Given the description of an element on the screen output the (x, y) to click on. 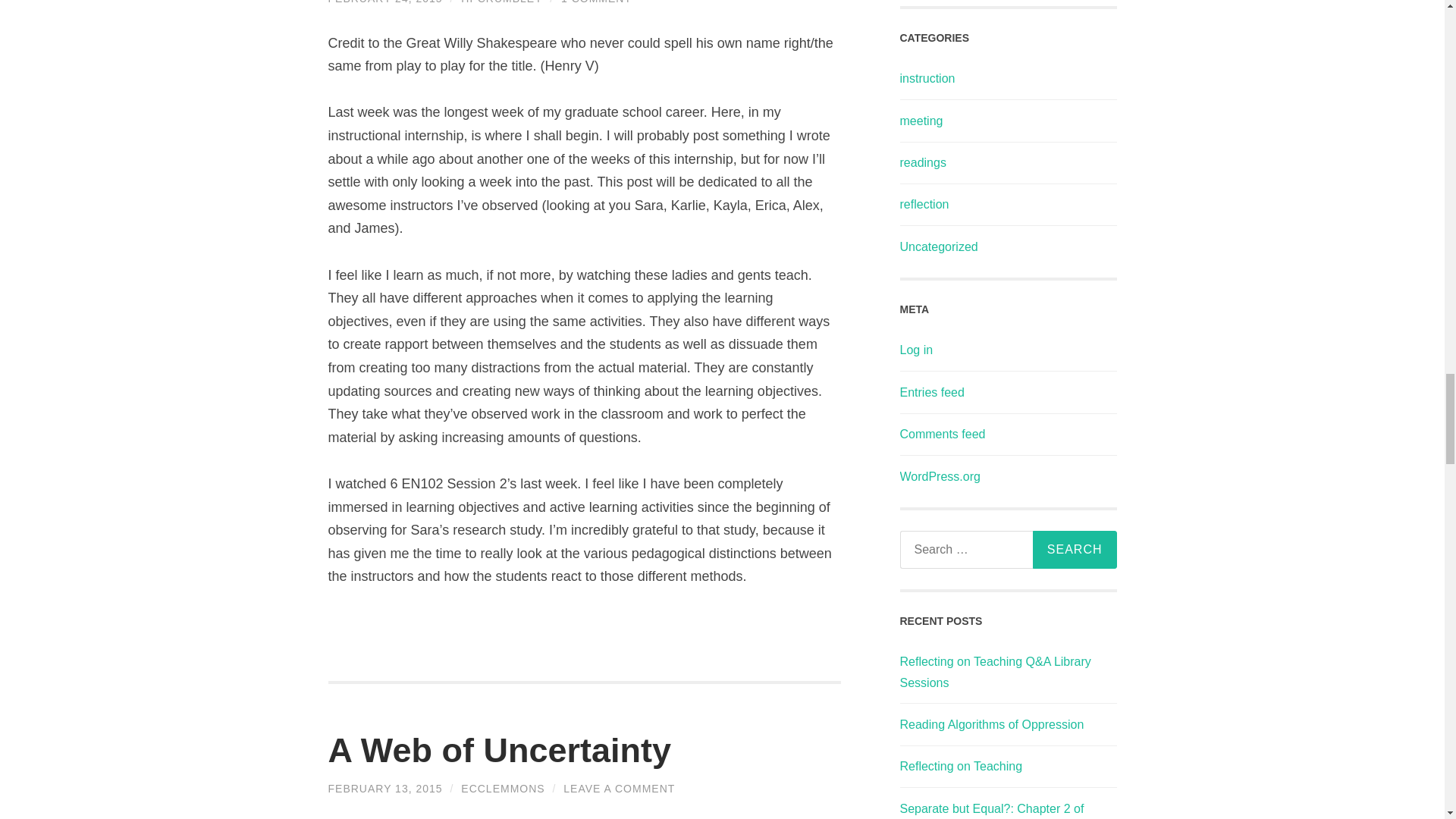
1 COMMENT (595, 2)
A Web of Uncertainty (499, 750)
Search (1074, 549)
LEAVE A COMMENT (619, 788)
HPCRUMBLEY (501, 2)
ECCLEMMONS (502, 788)
Search (1074, 549)
